Given the description of an element on the screen output the (x, y) to click on. 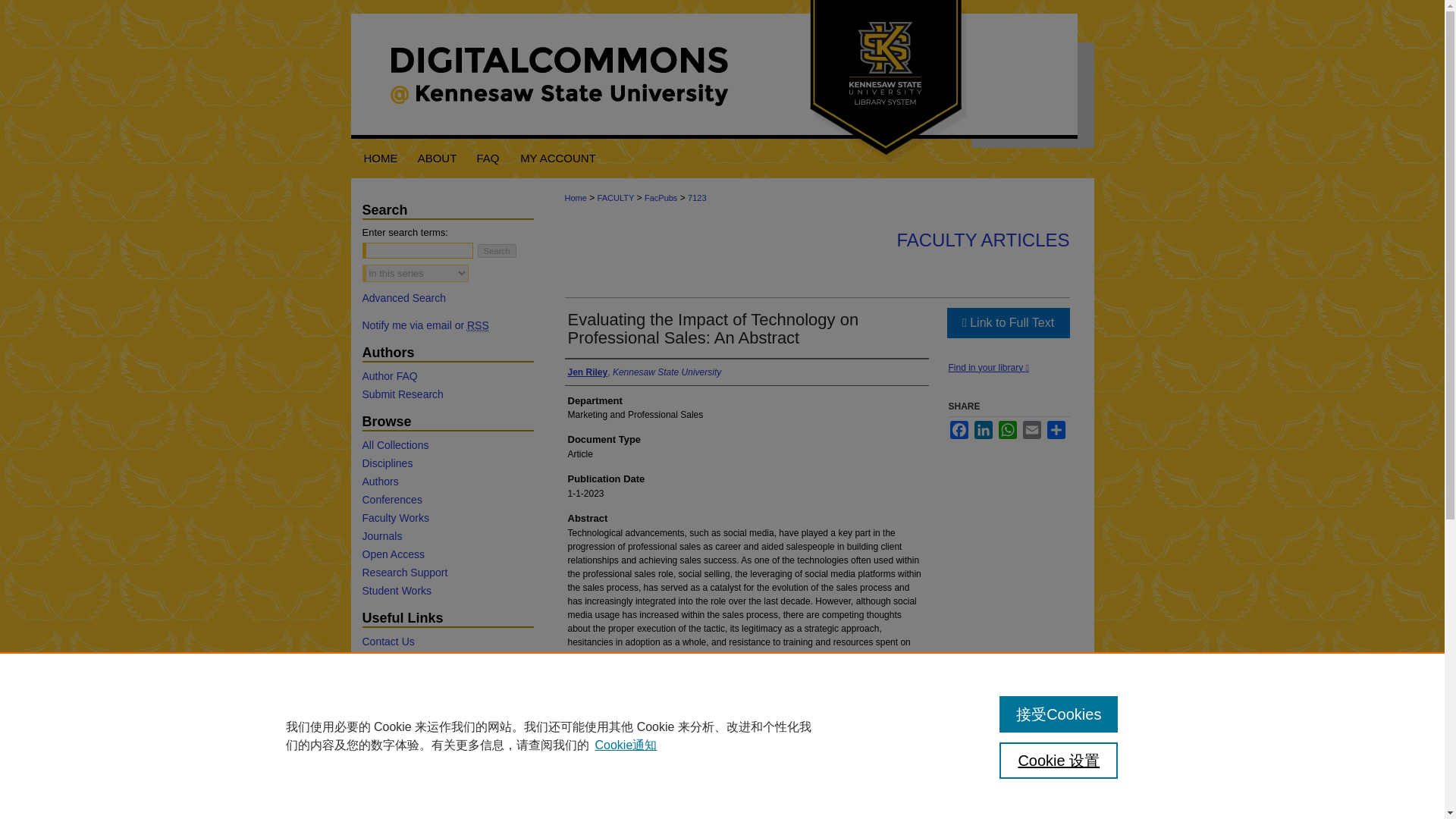
Search (496, 250)
Facebook (958, 429)
Author FAQ (447, 376)
Journals (447, 535)
ABOUT (437, 158)
Email (1031, 429)
MY ACCOUNT (558, 158)
Advanced Search (404, 297)
OpenURL (987, 367)
Open Access (447, 553)
HOME (378, 158)
FAQ (488, 158)
Notify me via email or RSS (447, 325)
My Account (558, 158)
Home (378, 158)
